Given the description of an element on the screen output the (x, y) to click on. 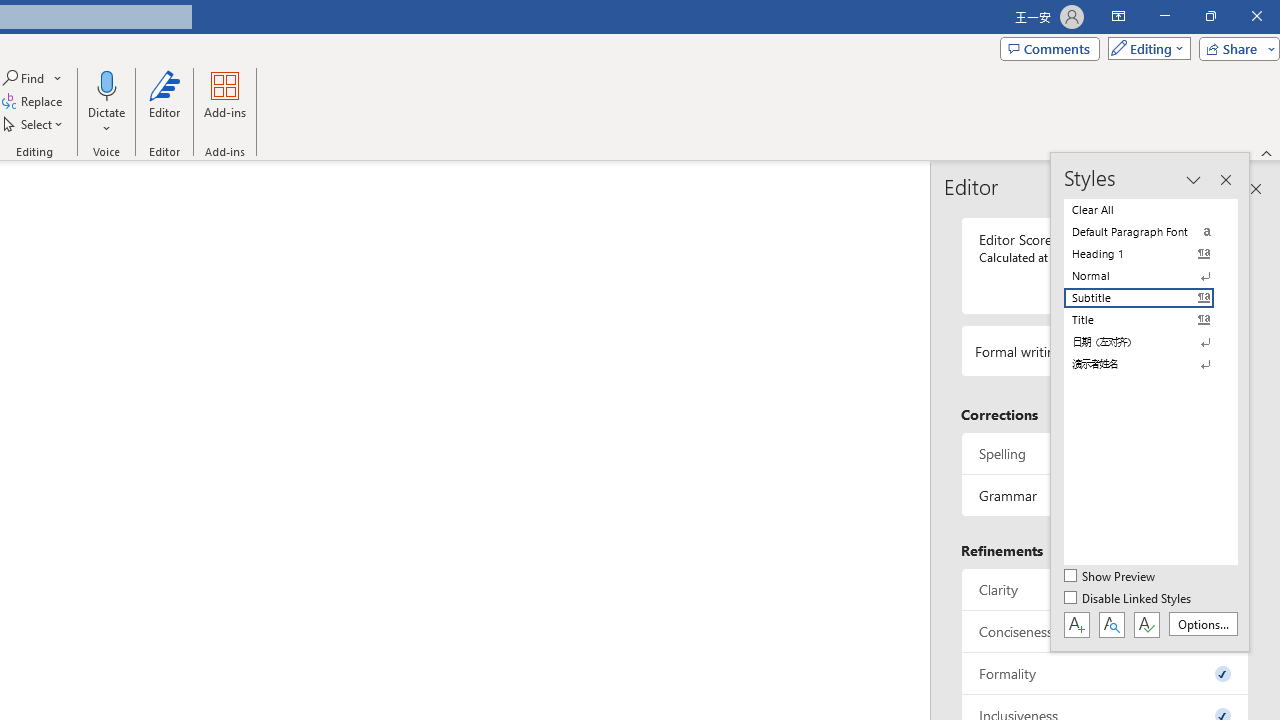
Clear All (1150, 209)
Subtitle (1150, 297)
Title (1150, 319)
Show Preview (1110, 577)
Spelling, 0 issues. Press space or enter to review items. (1105, 452)
Normal (1150, 275)
